Given the description of an element on the screen output the (x, y) to click on. 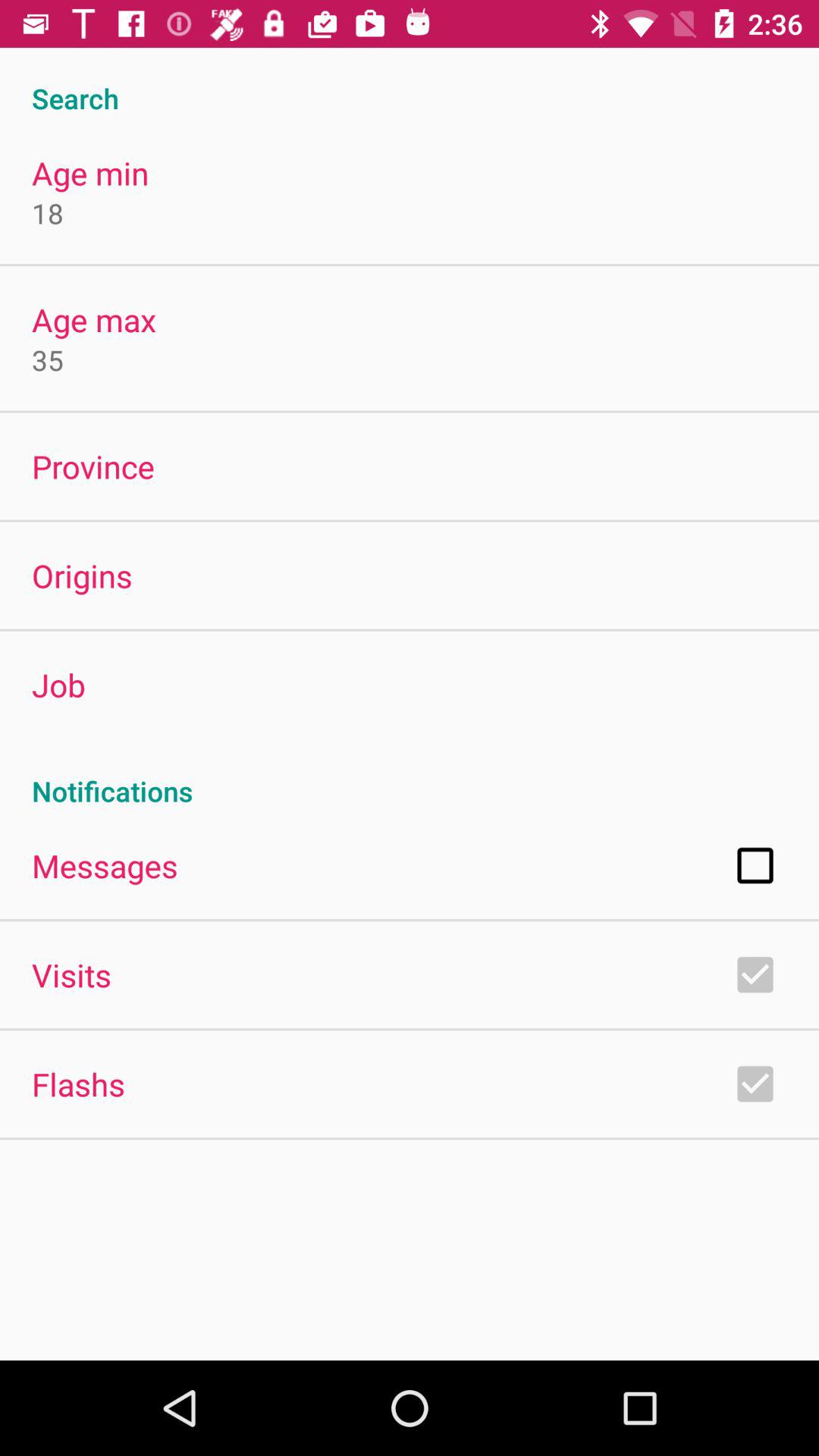
flip to search app (409, 82)
